Given the description of an element on the screen output the (x, y) to click on. 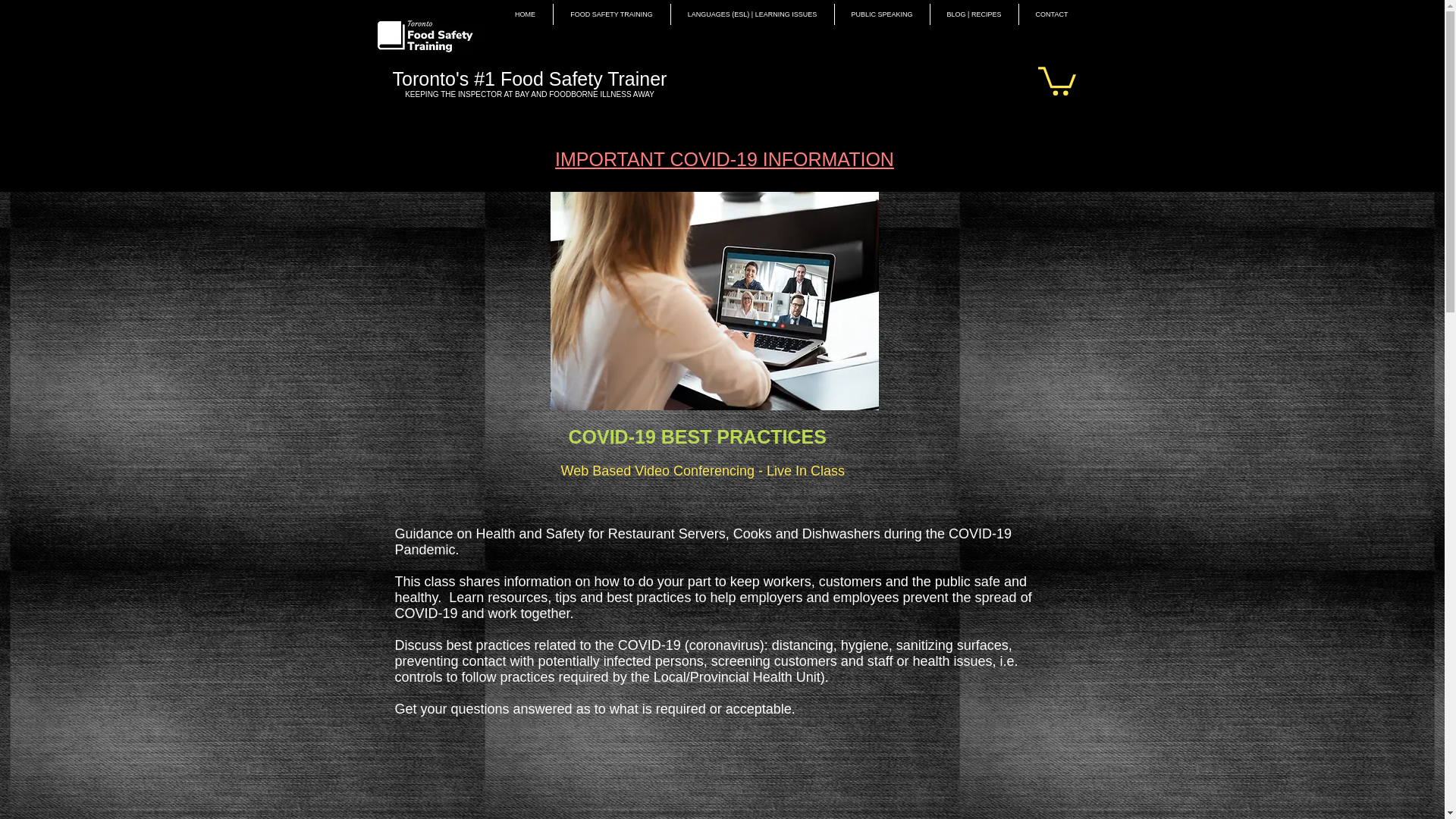
HOME (524, 14)
IMPORTANT COVID-19 INFORMATION (723, 158)
FOOD SAFETY TRAINING (611, 14)
CONTACT (1051, 14)
PUBLIC SPEAKING (881, 14)
